Given the description of an element on the screen output the (x, y) to click on. 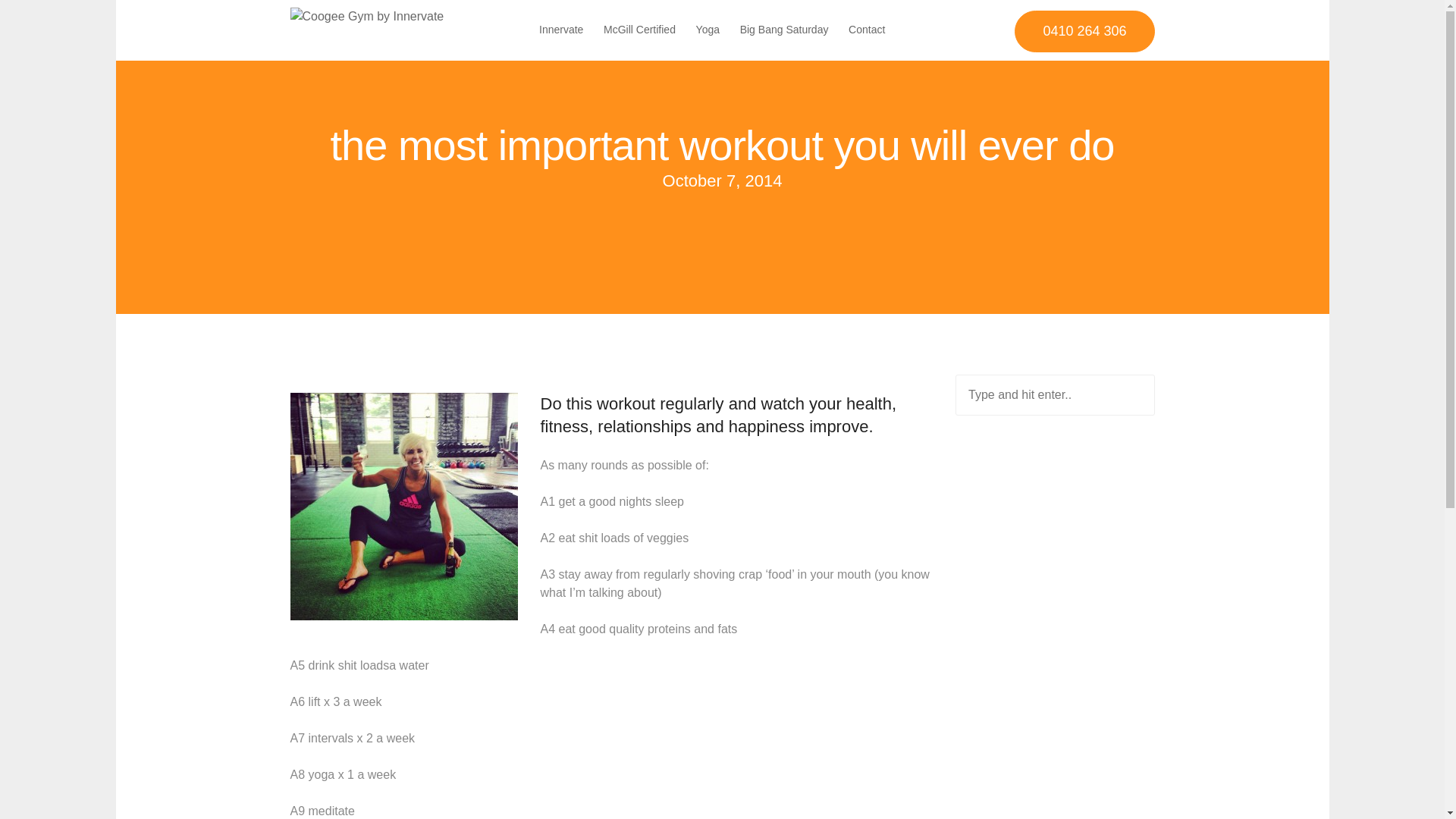
0410 264 306 Element type: text (1084, 31)
McGill Certified Element type: text (639, 29)
Innervate Element type: text (561, 29)
Big Bang Saturday Element type: text (784, 29)
Yoga Element type: text (707, 29)
Contact Element type: text (866, 29)
